Given the description of an element on the screen output the (x, y) to click on. 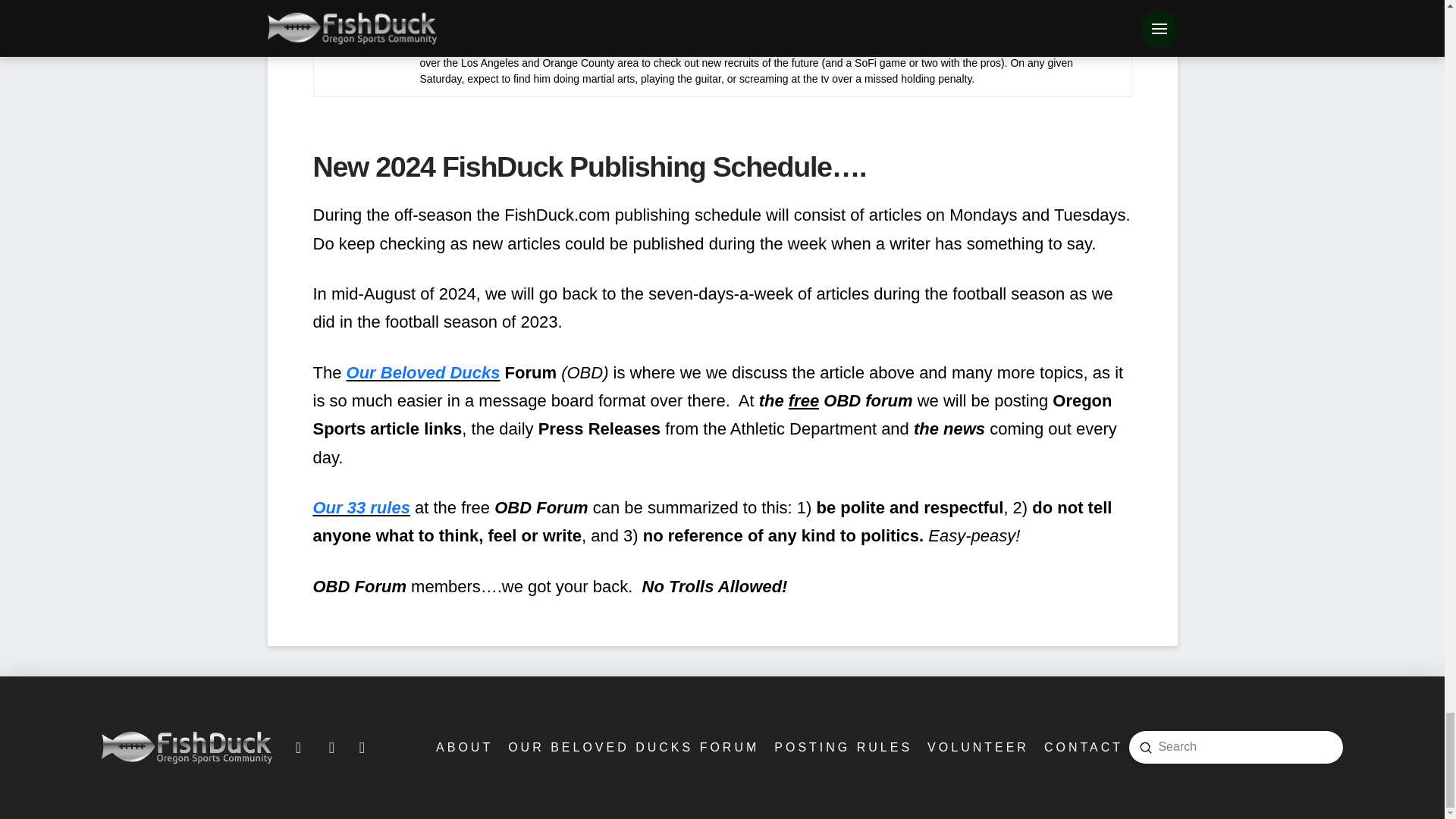
VOLUNTEER (976, 747)
ABOUT (462, 747)
OUR BELOVED DUCKS FORUM (632, 747)
CONTACT (1082, 747)
Submit (1145, 747)
About (462, 747)
Commenting Rules (841, 747)
Alex Heining (458, 9)
Our 33 rules (361, 506)
Volunteer (976, 747)
Our Beloved Ducks (423, 372)
POSTING RULES (841, 747)
